Given the description of an element on the screen output the (x, y) to click on. 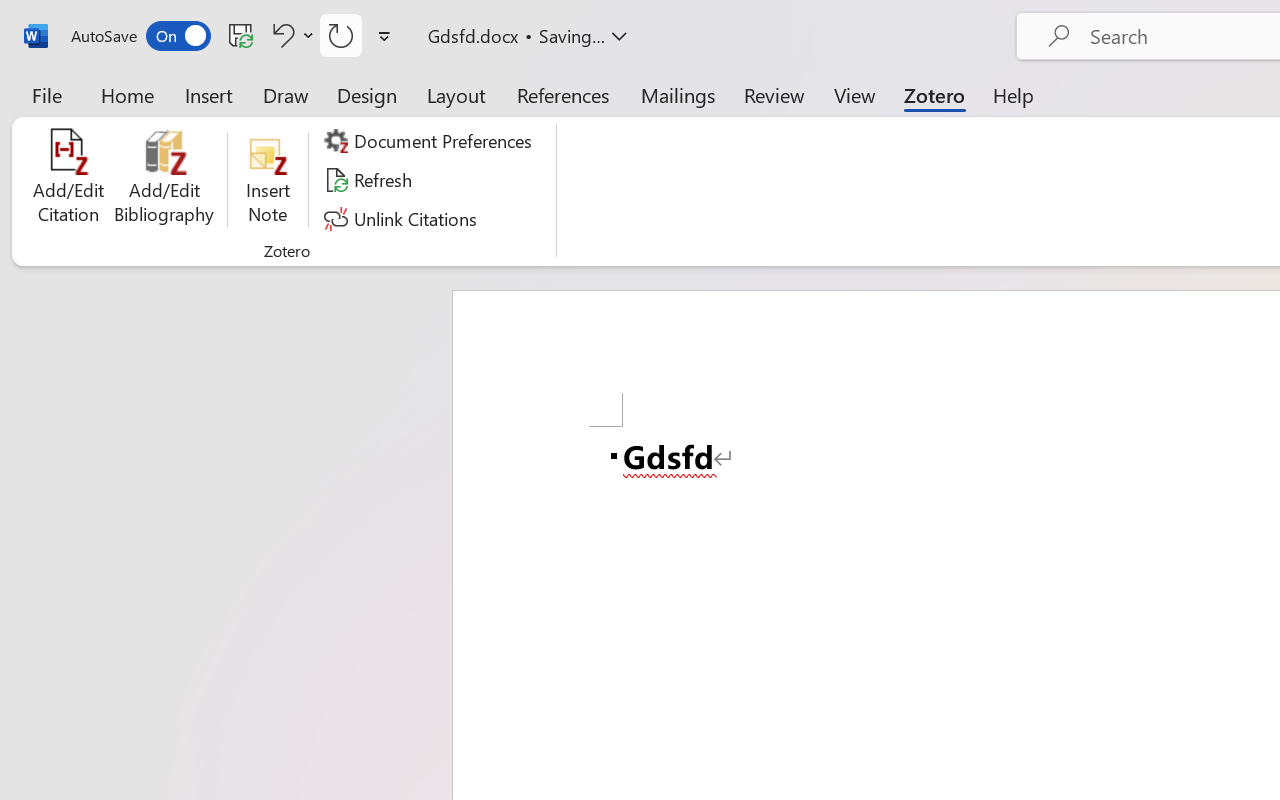
Document Preferences (431, 141)
Unlink Citations (403, 218)
Add/Edit Bibliography (164, 179)
Undo <ApplyStyleToDoc>b__0 (280, 35)
